Given the description of an element on the screen output the (x, y) to click on. 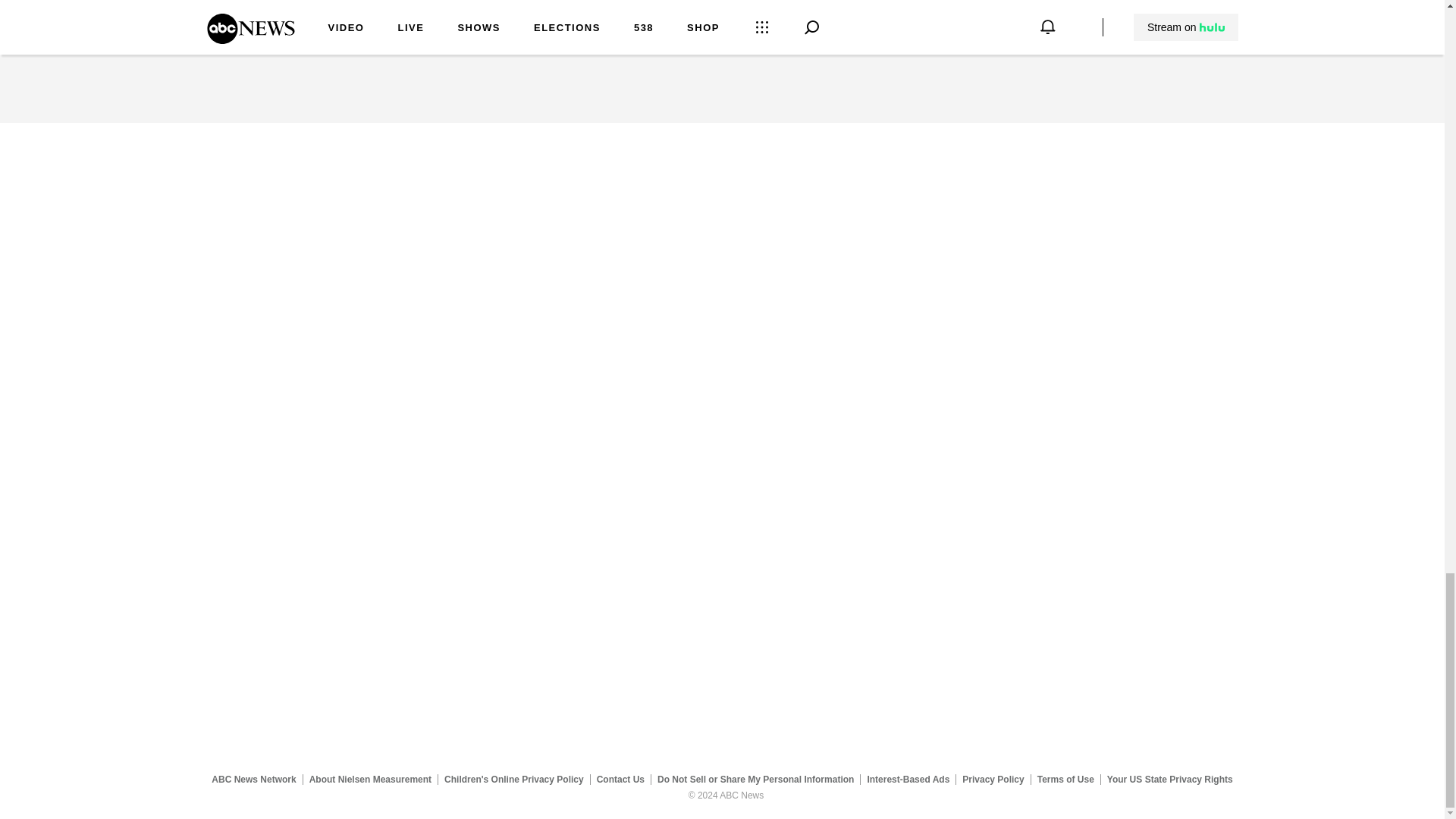
Contact Us (620, 778)
Interest-Based Ads (908, 778)
Do Not Sell or Share My Personal Information (755, 778)
Children's Online Privacy Policy (514, 778)
ABC News Network (253, 778)
Privacy Policy (993, 778)
Your US State Privacy Rights (1169, 778)
About Nielsen Measurement (370, 778)
Terms of Use (1065, 778)
